Given the description of an element on the screen output the (x, y) to click on. 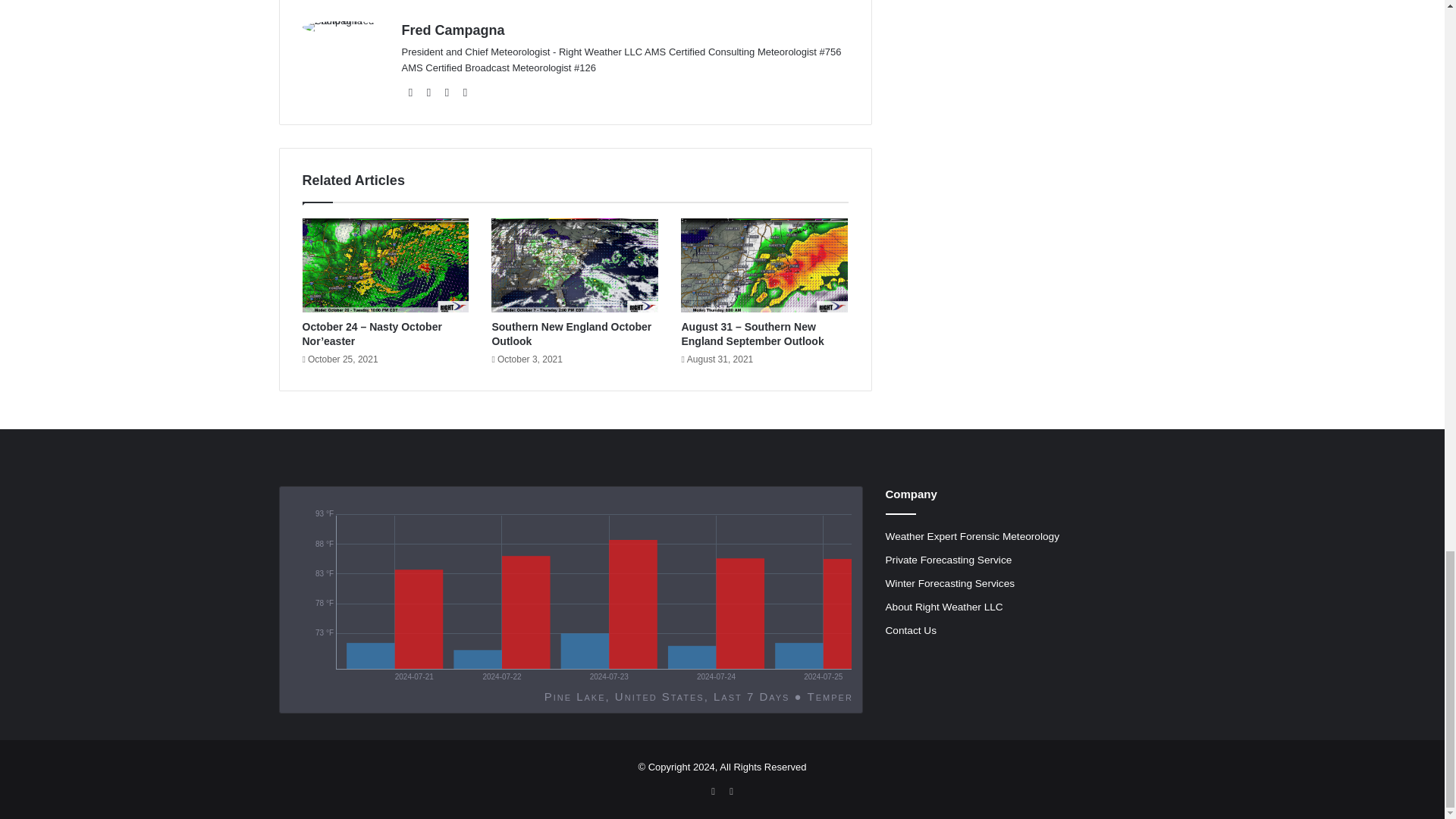
Website (410, 92)
Fred Campagna (453, 29)
